Given the description of an element on the screen output the (x, y) to click on. 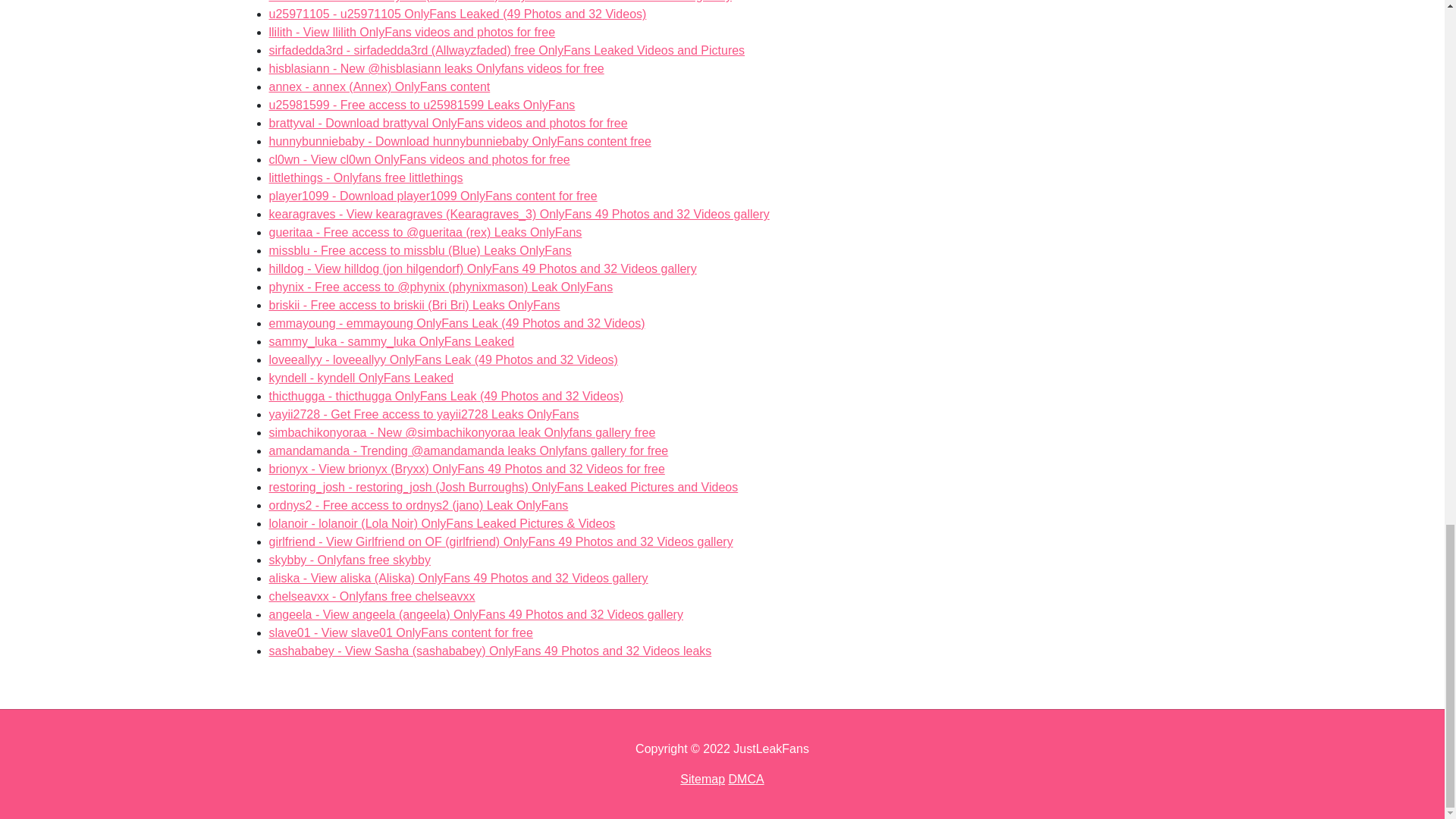
littlethings - Onlyfans free littlethings (410, 31)
player1099 - Download player1099 OnlyFans content for free (365, 177)
llilith - View llilith OnlyFans videos and photos for free (431, 195)
cl0wn - View cl0wn OnlyFans videos and photos for free (447, 123)
u25981599 - Free access to u25981599 Leaks OnlyFans (410, 31)
